Given the description of an element on the screen output the (x, y) to click on. 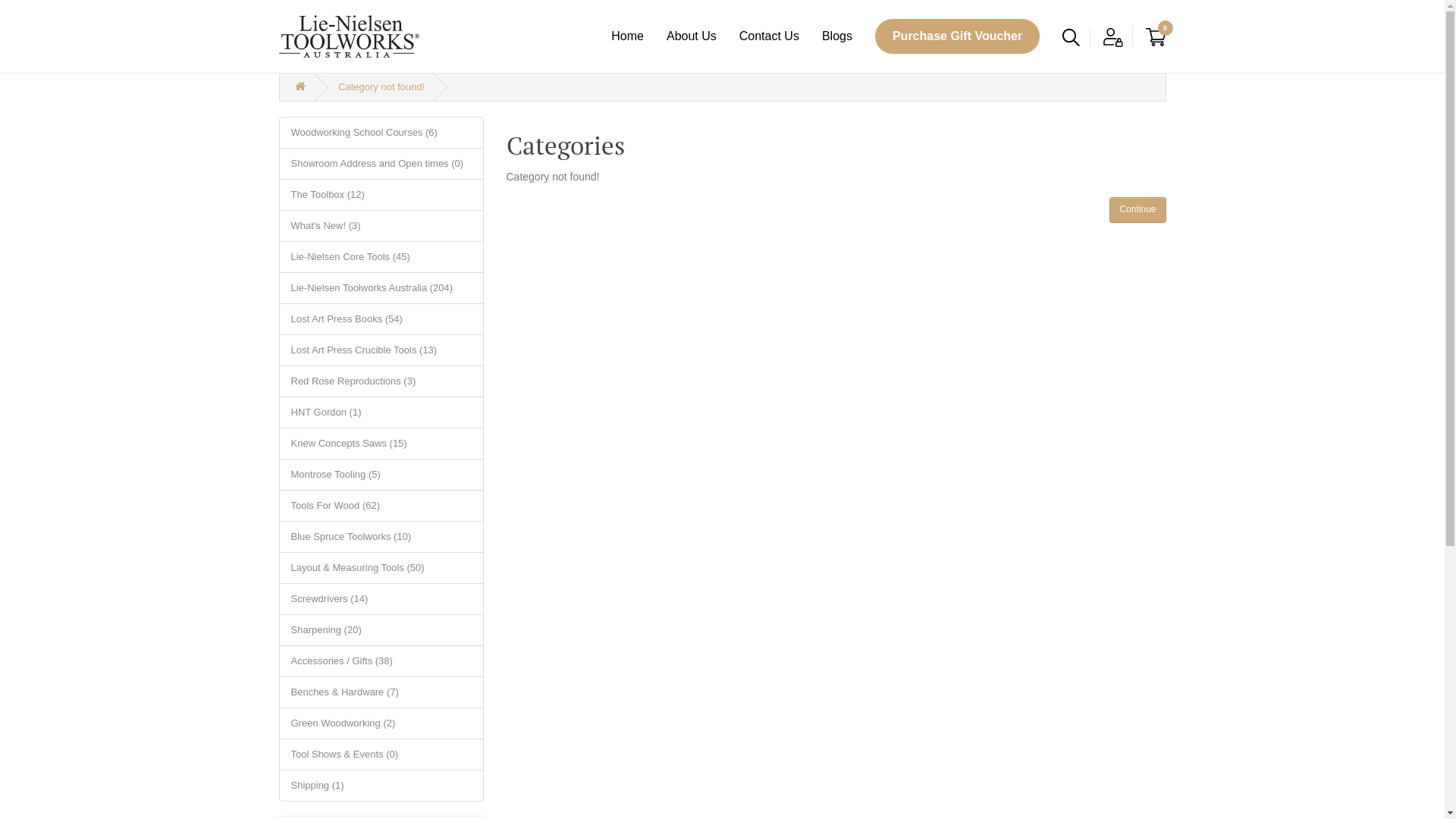
Lost Art Press Books (54) Element type: text (381, 319)
Showroom Address and Open times (0) Element type: text (381, 162)
0 Element type: text (1155, 37)
Green Woodworking (2) Element type: text (381, 722)
Lie-Nielsen Core Tools (45) Element type: text (381, 257)
Lost Art Press Crucible Tools (13) Element type: text (381, 349)
Lie-Nielsen Toolworks Australia (204) Element type: text (381, 287)
My Account Element type: hover (1112, 37)
About Us Element type: text (691, 35)
Tools For Wood (62) Element type: text (381, 505)
HNT Gordon (1) Element type: text (381, 411)
Blue Spruce Toolworks (10) Element type: text (381, 536)
Purchase Gift Voucher Element type: text (957, 35)
Blogs Element type: text (837, 35)
Screwdrivers (14) Element type: text (381, 598)
Woodworking School Courses (6) Element type: text (381, 132)
Contact Us Element type: text (769, 35)
Tool Shows & Events (0) Element type: text (381, 754)
Continue Element type: text (1137, 209)
Sharpening (20) Element type: text (381, 630)
Category not found! Element type: text (381, 85)
Montrose Tooling (5) Element type: text (381, 473)
What's New! (3) Element type: text (381, 225)
Red Rose Reproductions (3) Element type: text (381, 381)
Home Element type: text (627, 35)
Accessories / Gifts (38) Element type: text (381, 660)
Layout & Measuring Tools (50) Element type: text (381, 567)
Knew Concepts Saws (15) Element type: text (381, 443)
The Toolbox (12) Element type: text (381, 194)
Shipping (1) Element type: text (381, 784)
Benches & Hardware (7) Element type: text (381, 692)
